Given the description of an element on the screen output the (x, y) to click on. 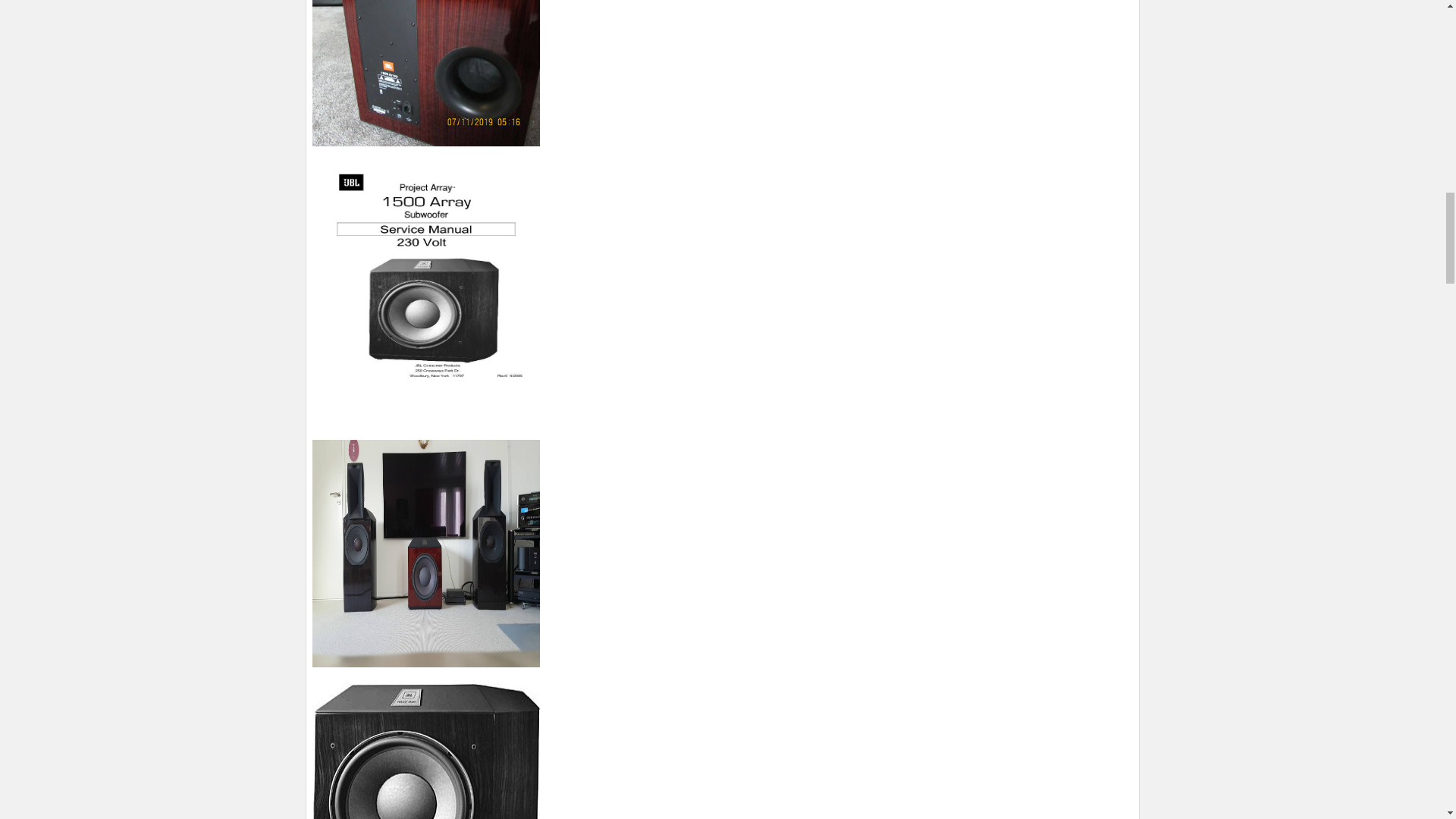
JBL 1500 Array (426, 73)
JBL 1500 Array (426, 750)
JBL 1500 Array (426, 553)
JBL 1500 Array (426, 275)
